Given the description of an element on the screen output the (x, y) to click on. 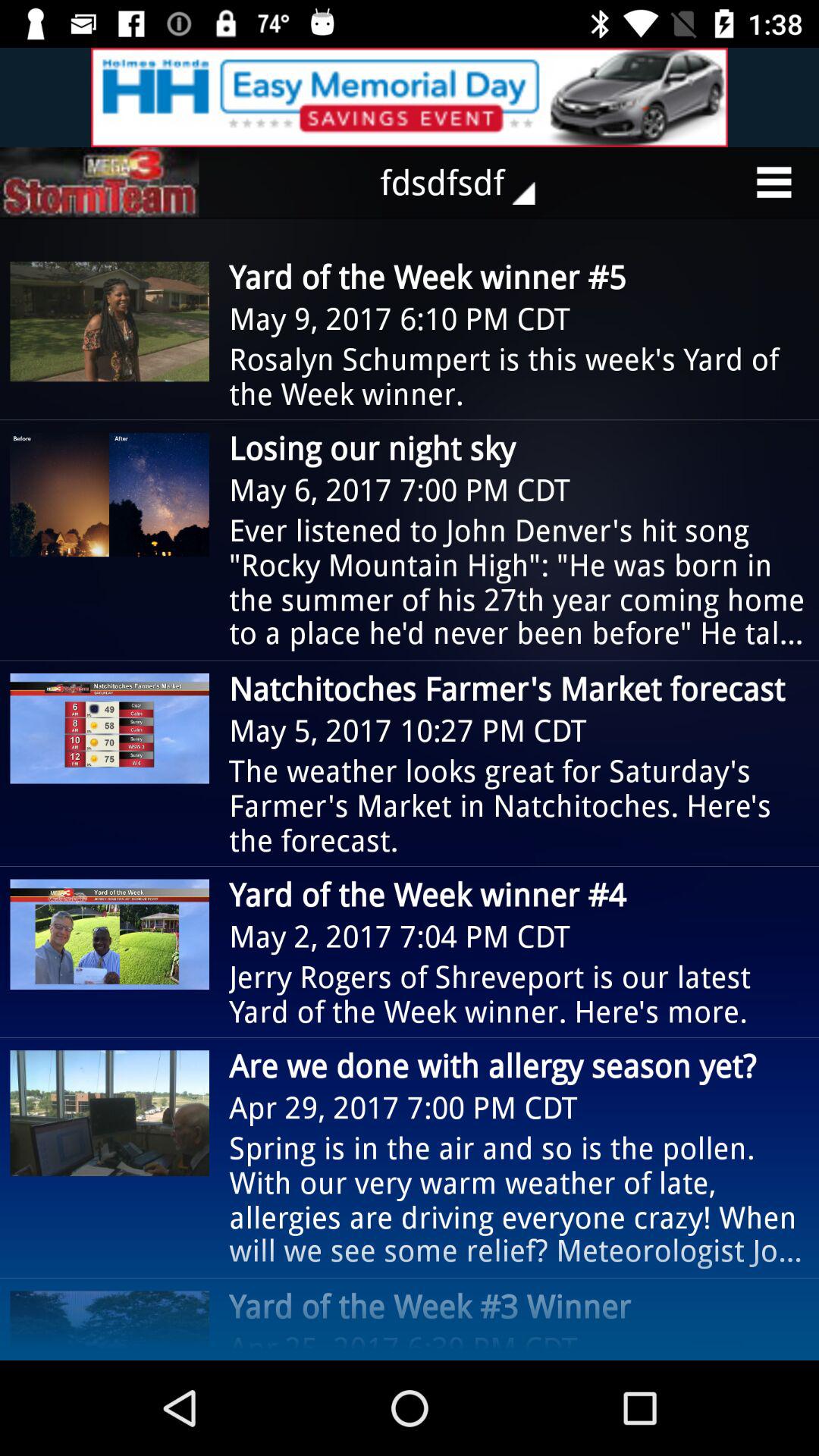
flip to the fdsdfsdf (468, 182)
